Given the description of an element on the screen output the (x, y) to click on. 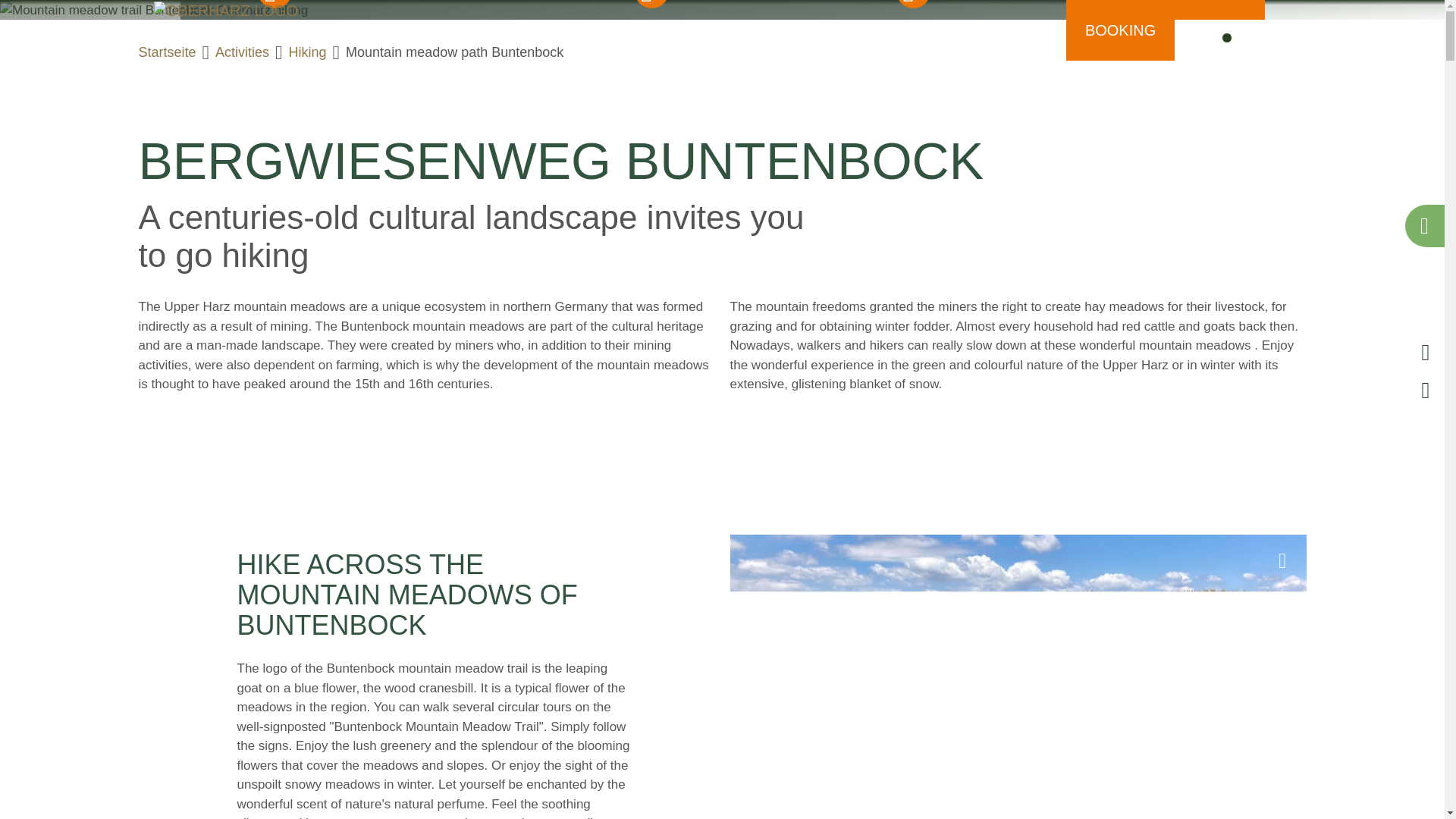
EVENTS (722, 29)
Show image details (1420, 2)
Startseite (224, 8)
BOOKING (1120, 30)
ACTIVITIES (632, 29)
